Given the description of an element on the screen output the (x, y) to click on. 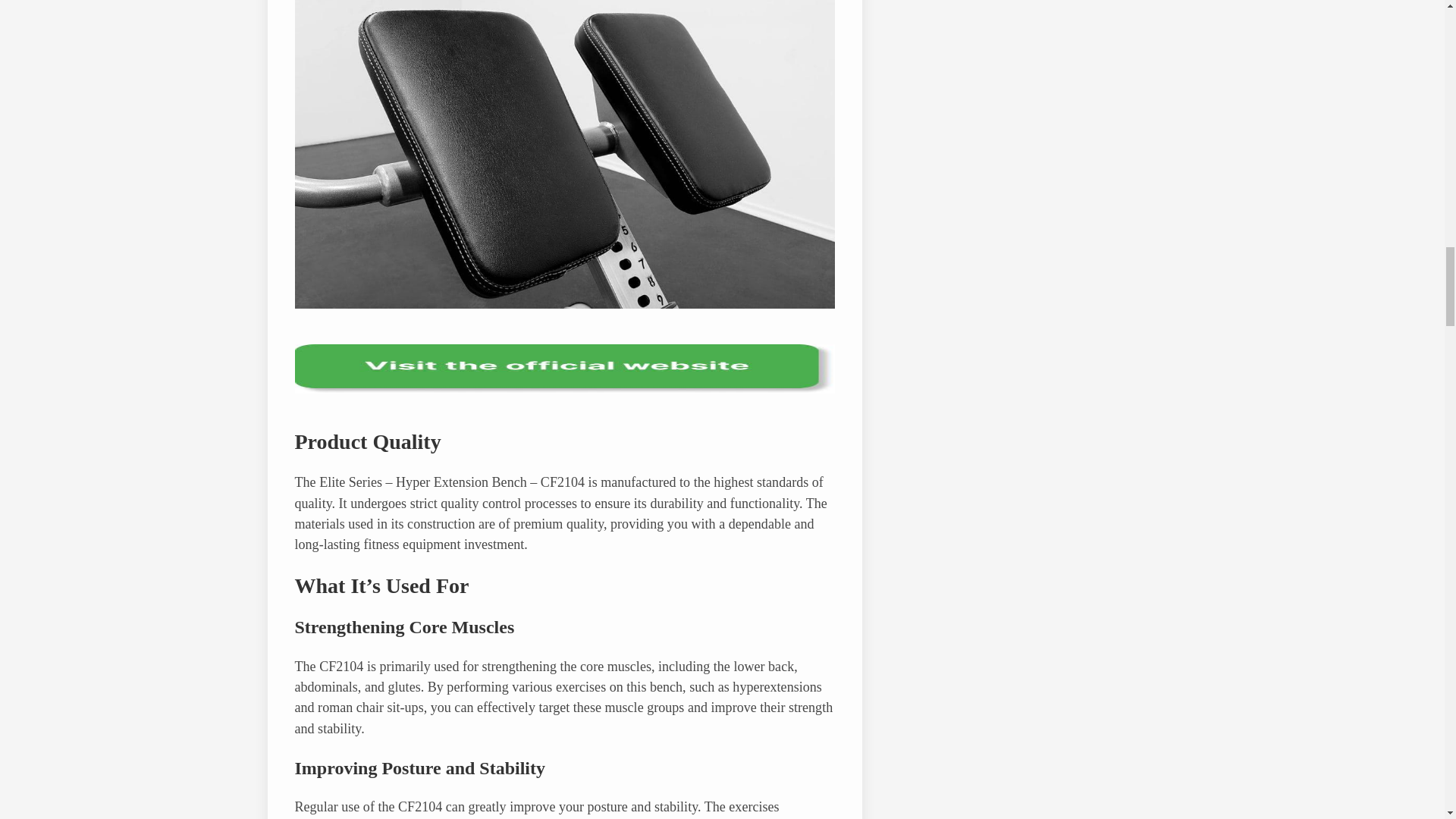
Elite Series - Hyper Extension Bench - CF2104 (564, 304)
